Given the description of an element on the screen output the (x, y) to click on. 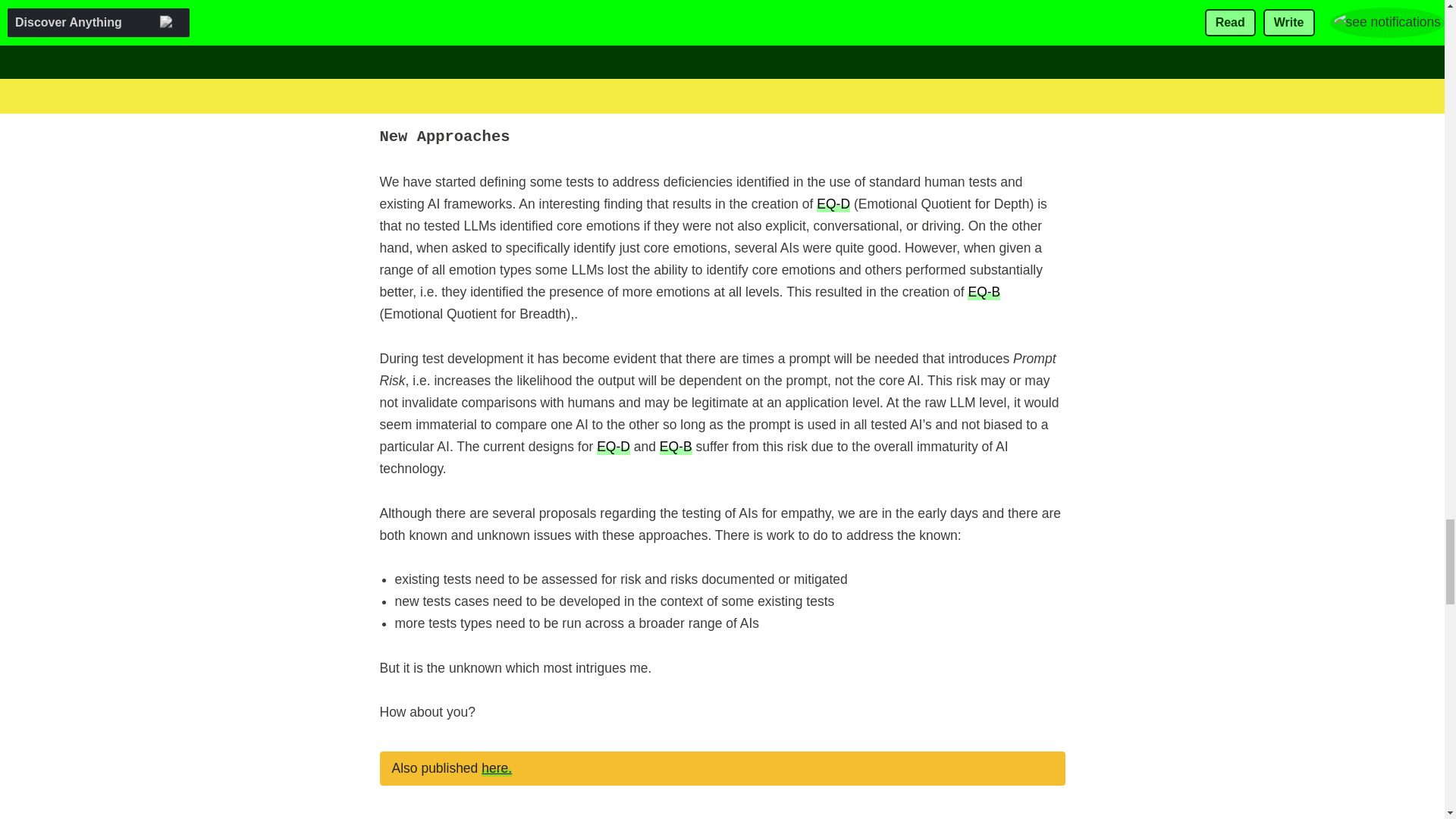
EQ-B (676, 446)
EQ-D (613, 446)
here. (496, 767)
EQ-D (833, 203)
EQ-B (984, 291)
